Given the description of an element on the screen output the (x, y) to click on. 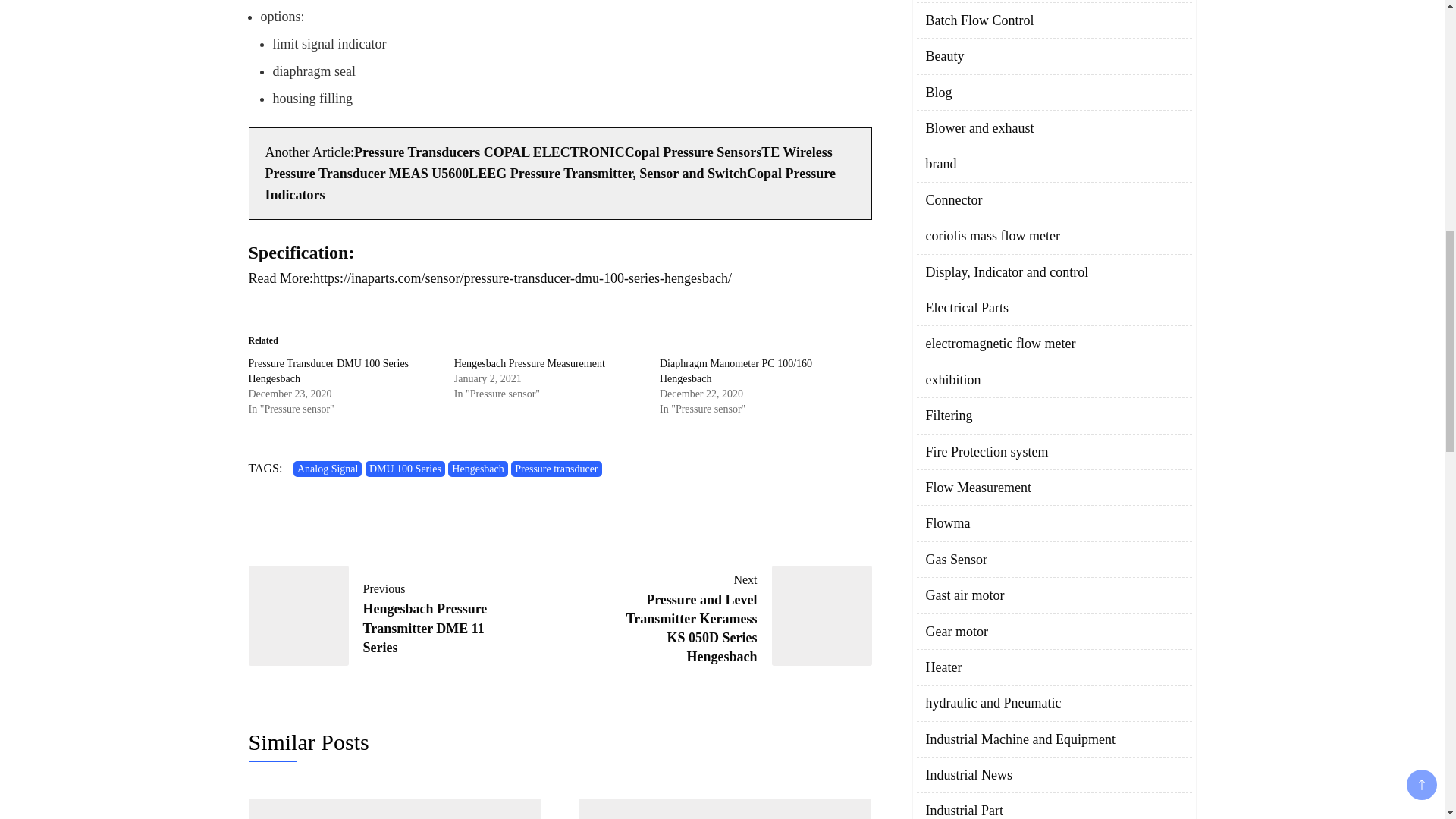
Hengesbach (477, 468)
Pressure Transducer DMU 100 Series Hengesbach (382, 615)
Pressure Transducer DMU 100 Series Hengesbach (328, 370)
Copal Pressure Sensors (328, 370)
DMU 100 Series (692, 151)
LEEG Pressure Transmitter, Sensor and Switch (405, 468)
Analog Signal (607, 173)
Pressure Transducers COPAL ELECTRONIC (328, 468)
